Given the description of an element on the screen output the (x, y) to click on. 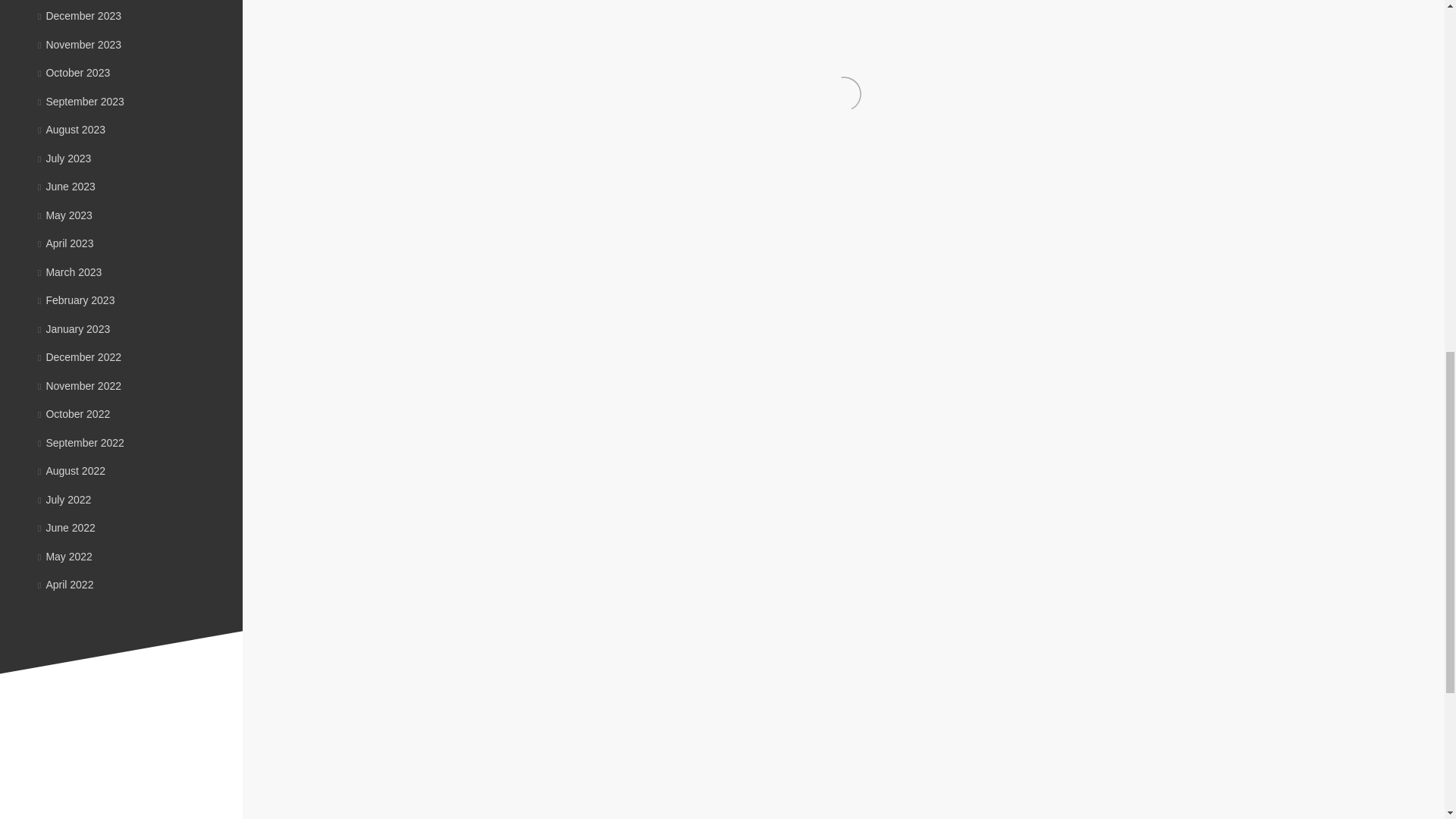
October 2022 (73, 413)
September 2023 (80, 101)
June 2022 (66, 527)
January 2023 (73, 328)
June 2023 (66, 186)
July 2022 (63, 499)
December 2022 (78, 357)
November 2022 (78, 385)
April 2023 (65, 243)
May 2023 (65, 215)
November 2023 (78, 43)
August 2022 (70, 470)
February 2023 (76, 300)
March 2023 (69, 271)
August 2023 (70, 129)
